Given the description of an element on the screen output the (x, y) to click on. 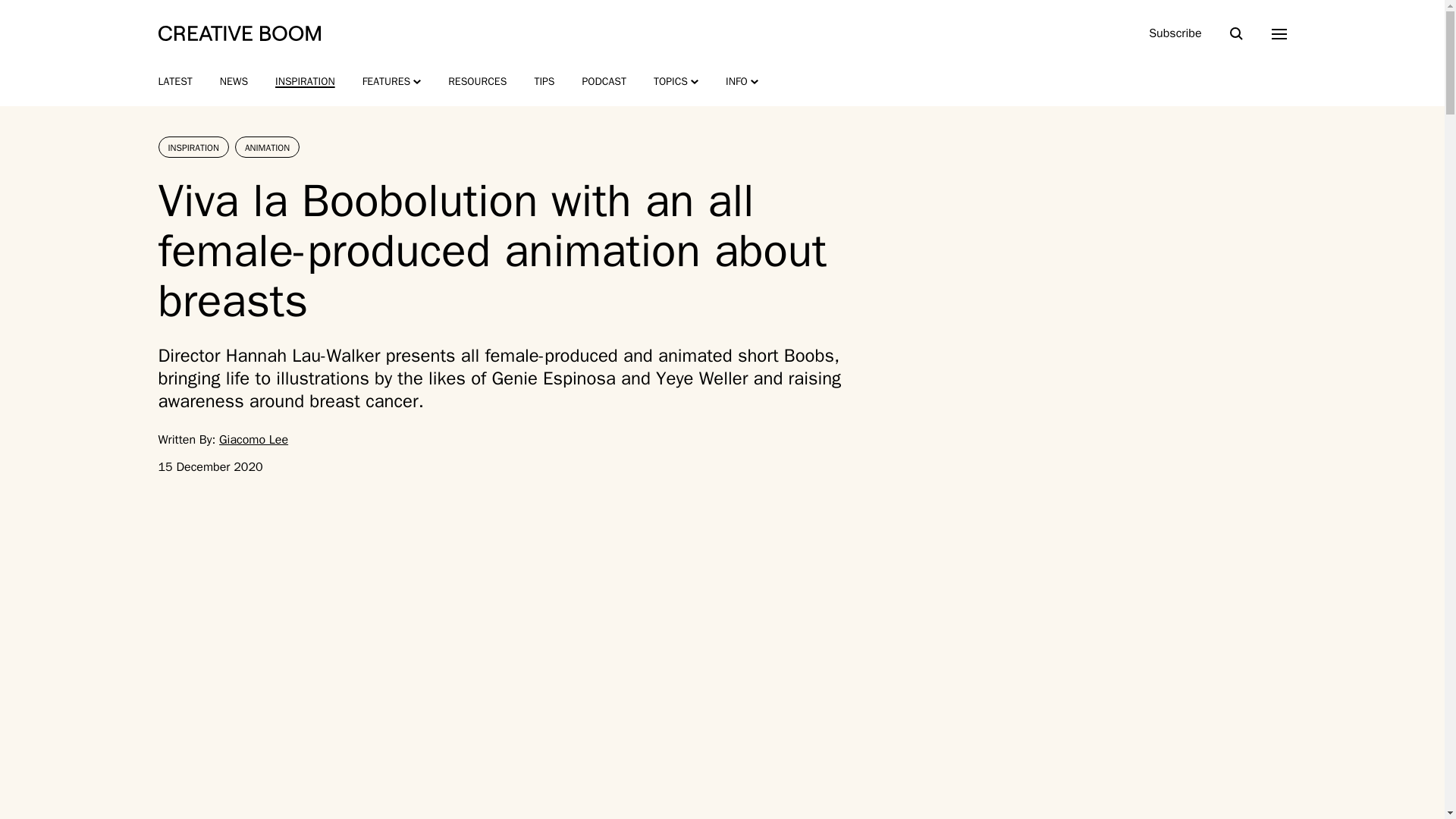
FEATURES (392, 81)
RESOURCES (477, 81)
Subscribe (1174, 33)
TOPICS (675, 81)
PODCAST (604, 81)
INSPIRATION (304, 81)
